Given the description of an element on the screen output the (x, y) to click on. 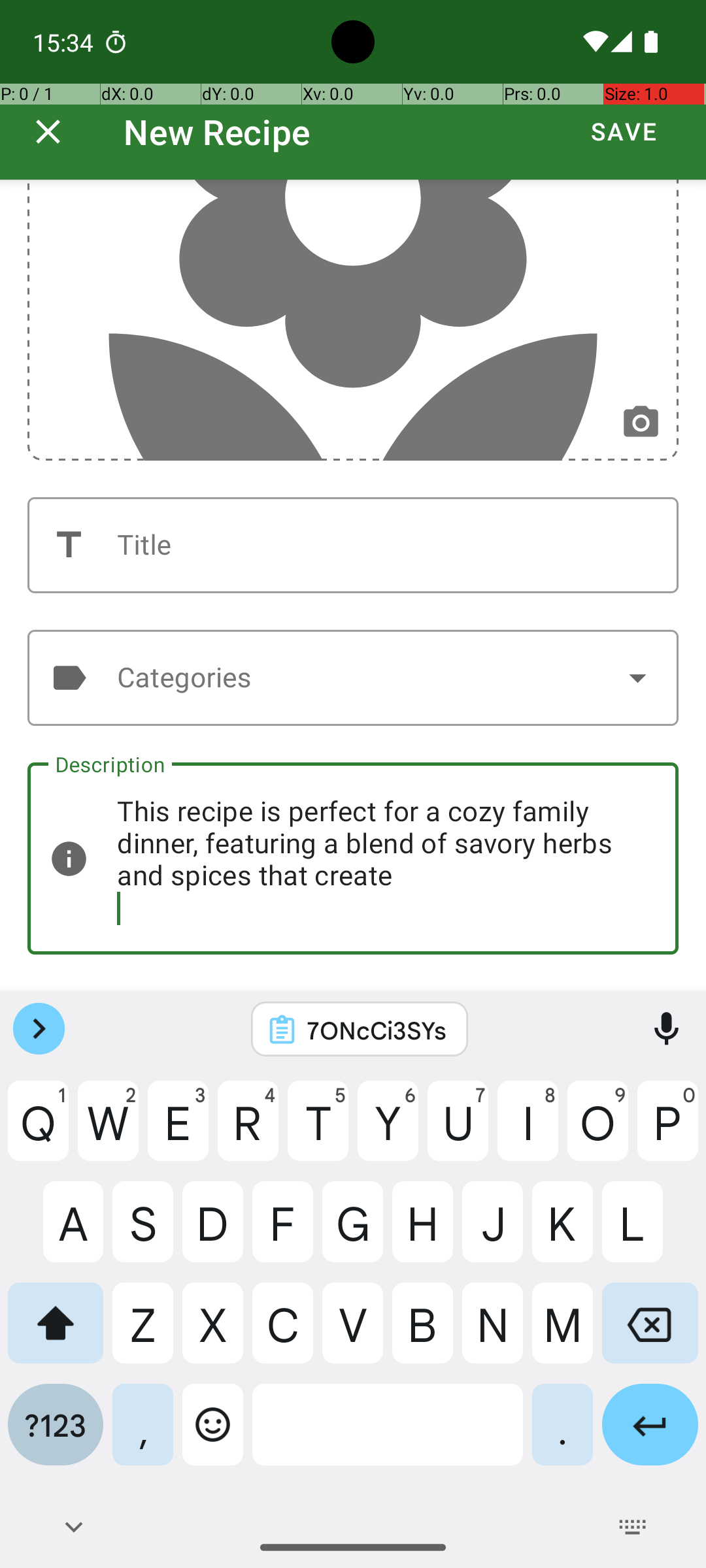
This recipe is perfect for a cozy family dinner, featuring a blend of savory herbs and spices that create
 Element type: android.widget.EditText (352, 858)
7ONcCi3SYs Element type: android.widget.TextView (376, 1029)
